Given the description of an element on the screen output the (x, y) to click on. 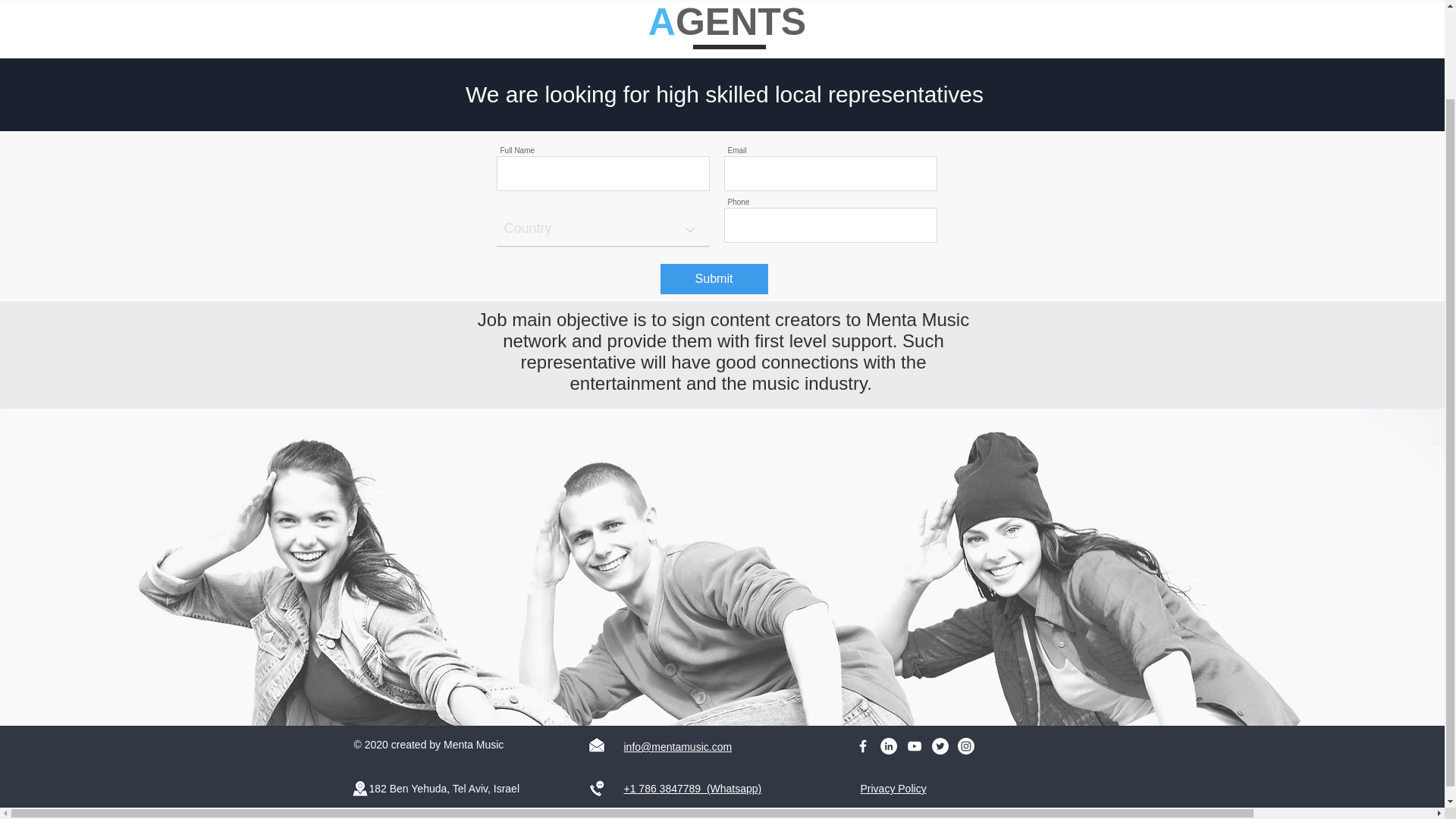
Privacy Policy (893, 788)
